Given the description of an element on the screen output the (x, y) to click on. 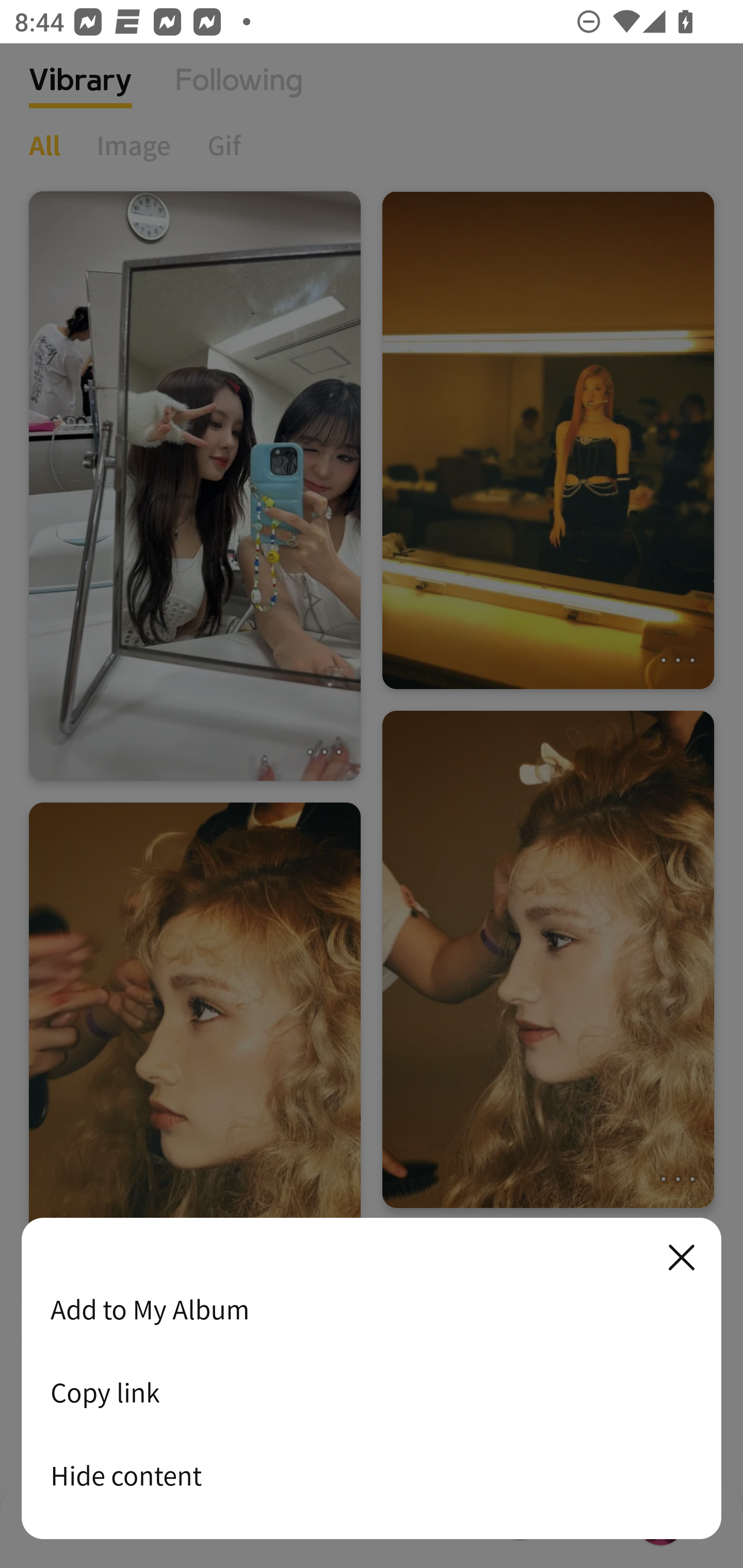
Add to My Album Copy link Hide content (371, 1378)
Add to My Album (371, 1308)
Copy link (371, 1391)
Hide content (371, 1474)
